Given the description of an element on the screen output the (x, y) to click on. 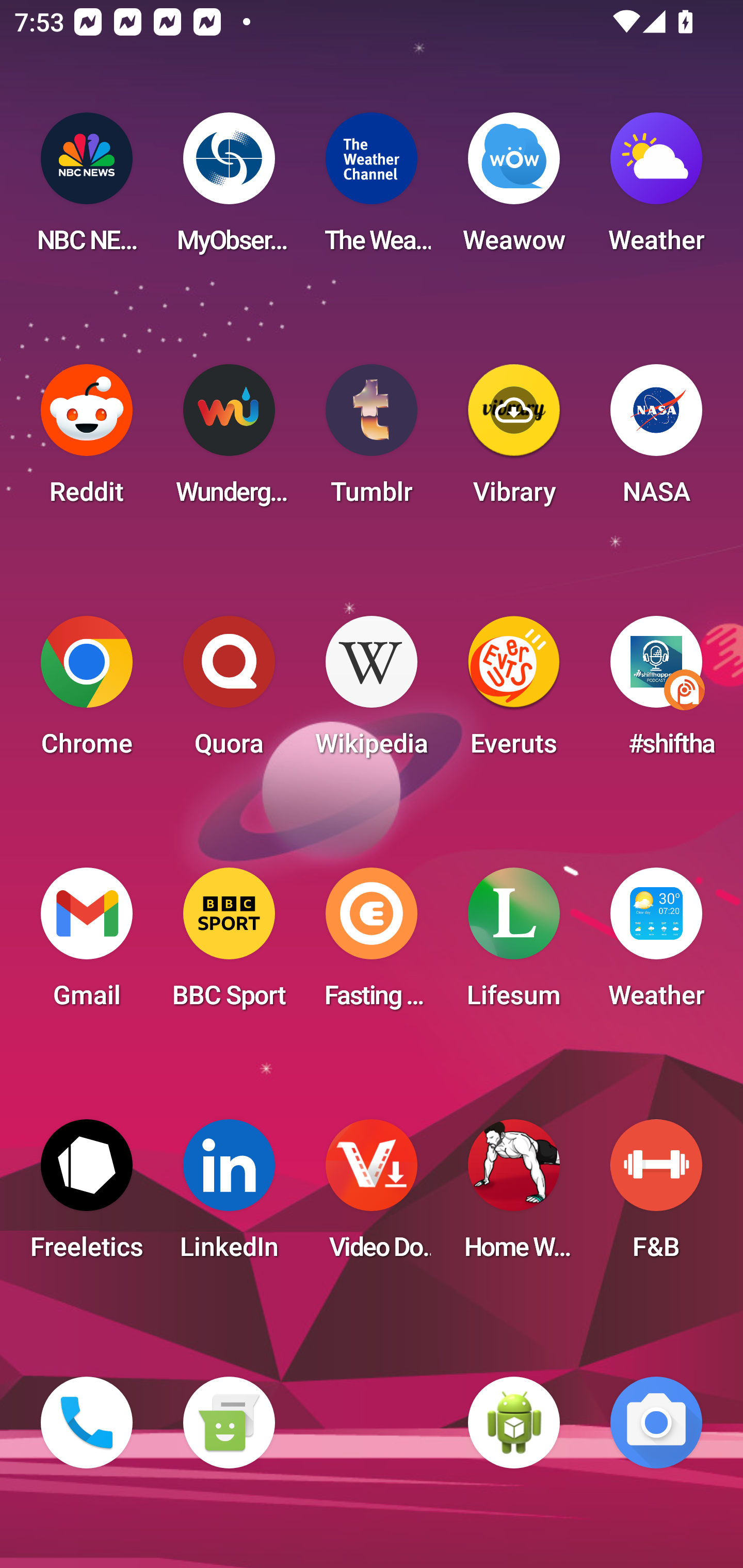
NBC NEWS (86, 188)
MyObservatory (228, 188)
The Weather Channel (371, 188)
Weawow (513, 188)
Weather (656, 188)
Reddit (86, 440)
Wunderground (228, 440)
Tumblr (371, 440)
Vibrary (513, 440)
NASA (656, 440)
Chrome (86, 692)
Quora (228, 692)
Wikipedia (371, 692)
Everuts (513, 692)
#shifthappens in the Digital Workplace Podcast (656, 692)
Gmail (86, 943)
BBC Sport (228, 943)
Fasting Coach (371, 943)
Lifesum (513, 943)
Weather (656, 943)
Freeletics (86, 1195)
LinkedIn (228, 1195)
Video Downloader & Ace Player (371, 1195)
Home Workout (513, 1195)
F&B (656, 1195)
Phone (86, 1422)
Messaging (228, 1422)
WebView Browser Tester (513, 1422)
Camera (656, 1422)
